Given the description of an element on the screen output the (x, y) to click on. 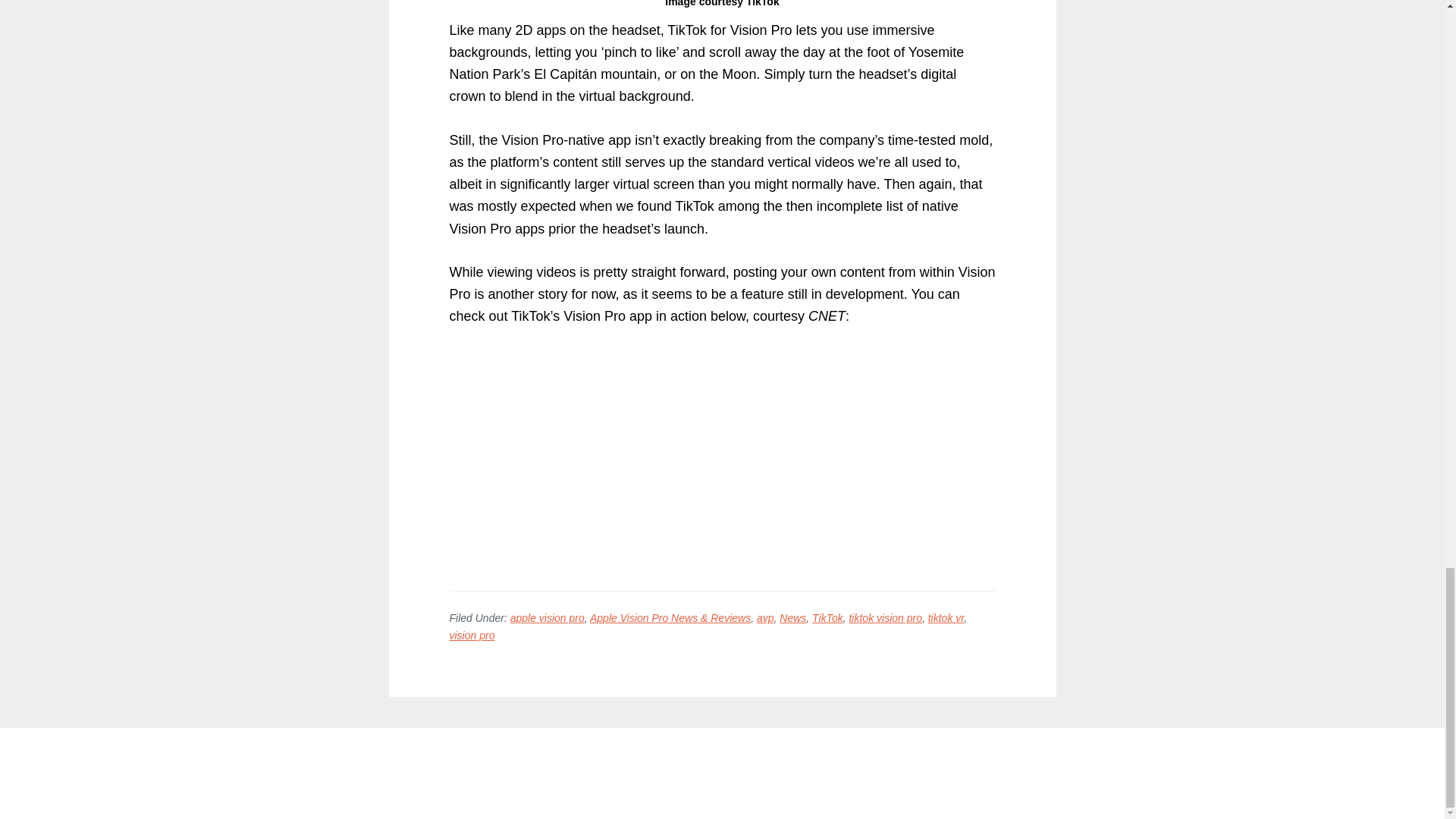
TikTok (827, 617)
apple vision pro (548, 617)
tiktok vision pro (884, 617)
News (792, 617)
vision pro (471, 635)
tiktok vr (945, 617)
avp (765, 617)
TikTok on the Vision Pro: How Does It Work? (638, 455)
